Given the description of an element on the screen output the (x, y) to click on. 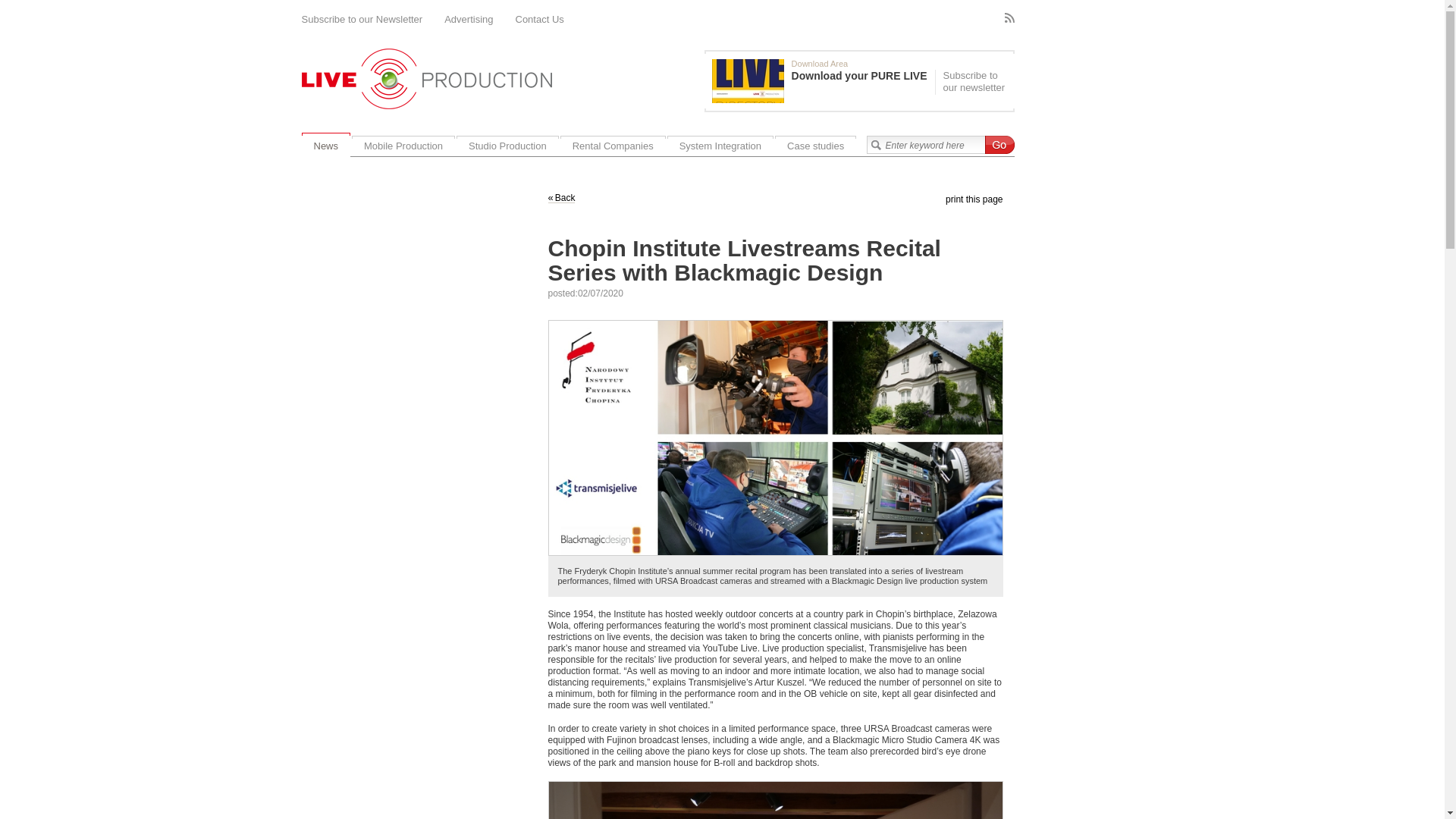
Go (998, 144)
PURE LIVE 2018 (747, 80)
Publication (822, 80)
RSS (1008, 17)
Contact Us (539, 19)
Subscribe to our newsletter (972, 82)
Advertising (468, 19)
Subscribe to our Newsletter (362, 19)
